Given the description of an element on the screen output the (x, y) to click on. 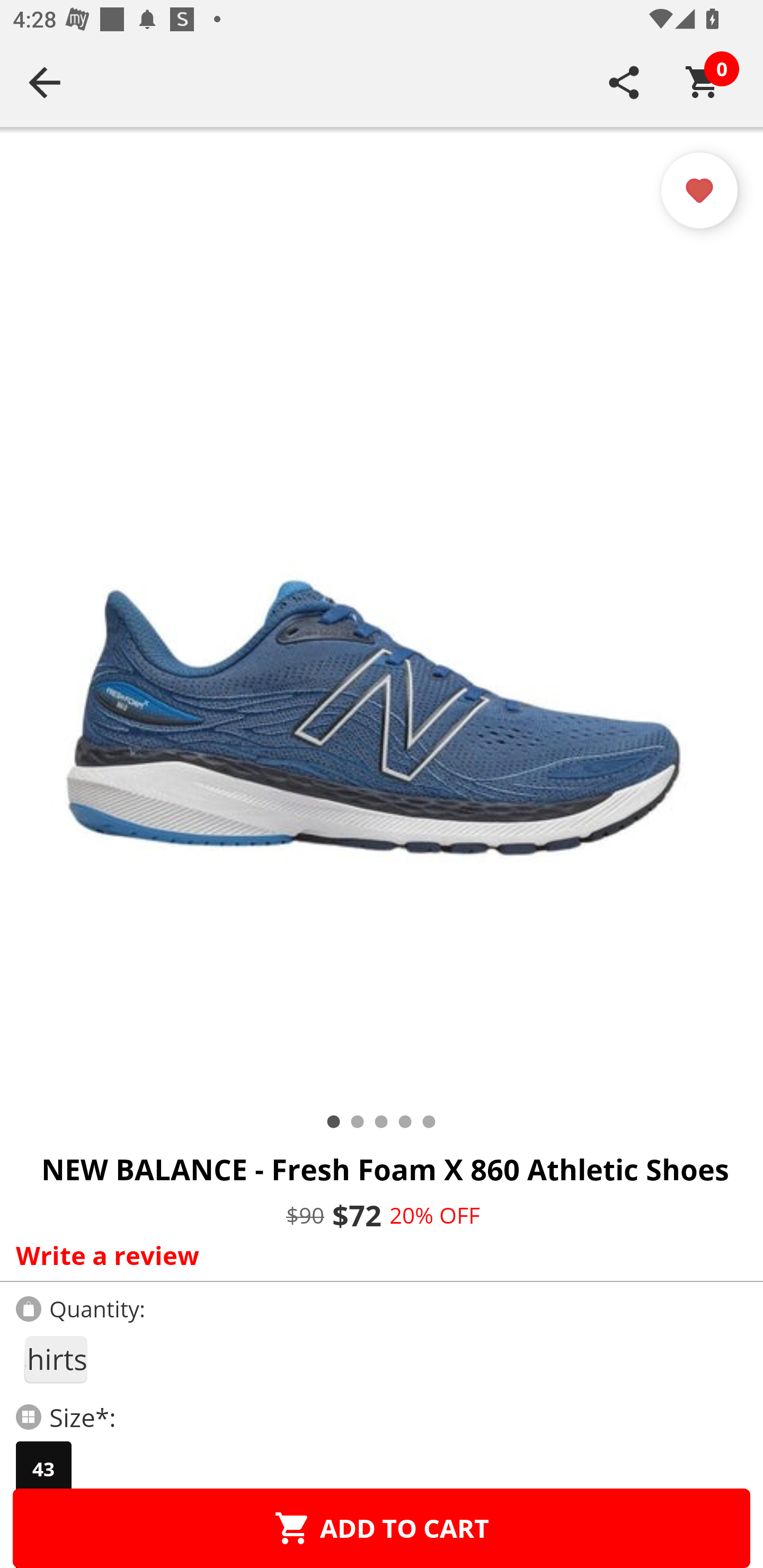
Navigate up (44, 82)
SHARE (623, 82)
Cart (703, 81)
Write a review (377, 1255)
1man shirts (55, 1358)
43 (43, 1468)
ADD TO CART (381, 1528)
